Given the description of an element on the screen output the (x, y) to click on. 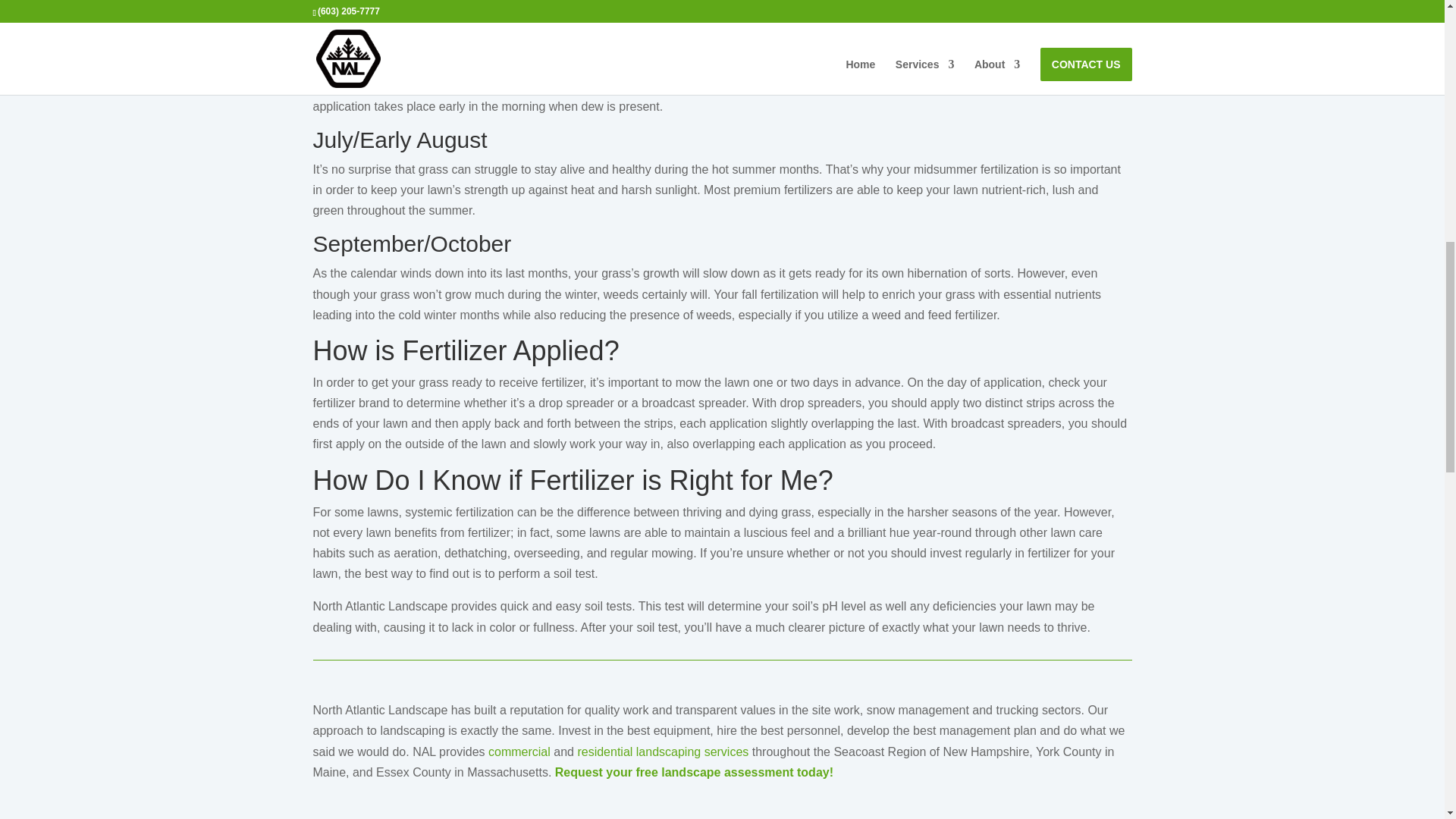
residential landscaping services (662, 751)
commercial (518, 751)
Request your free landscape assessment today! (693, 771)
